Given the description of an element on the screen output the (x, y) to click on. 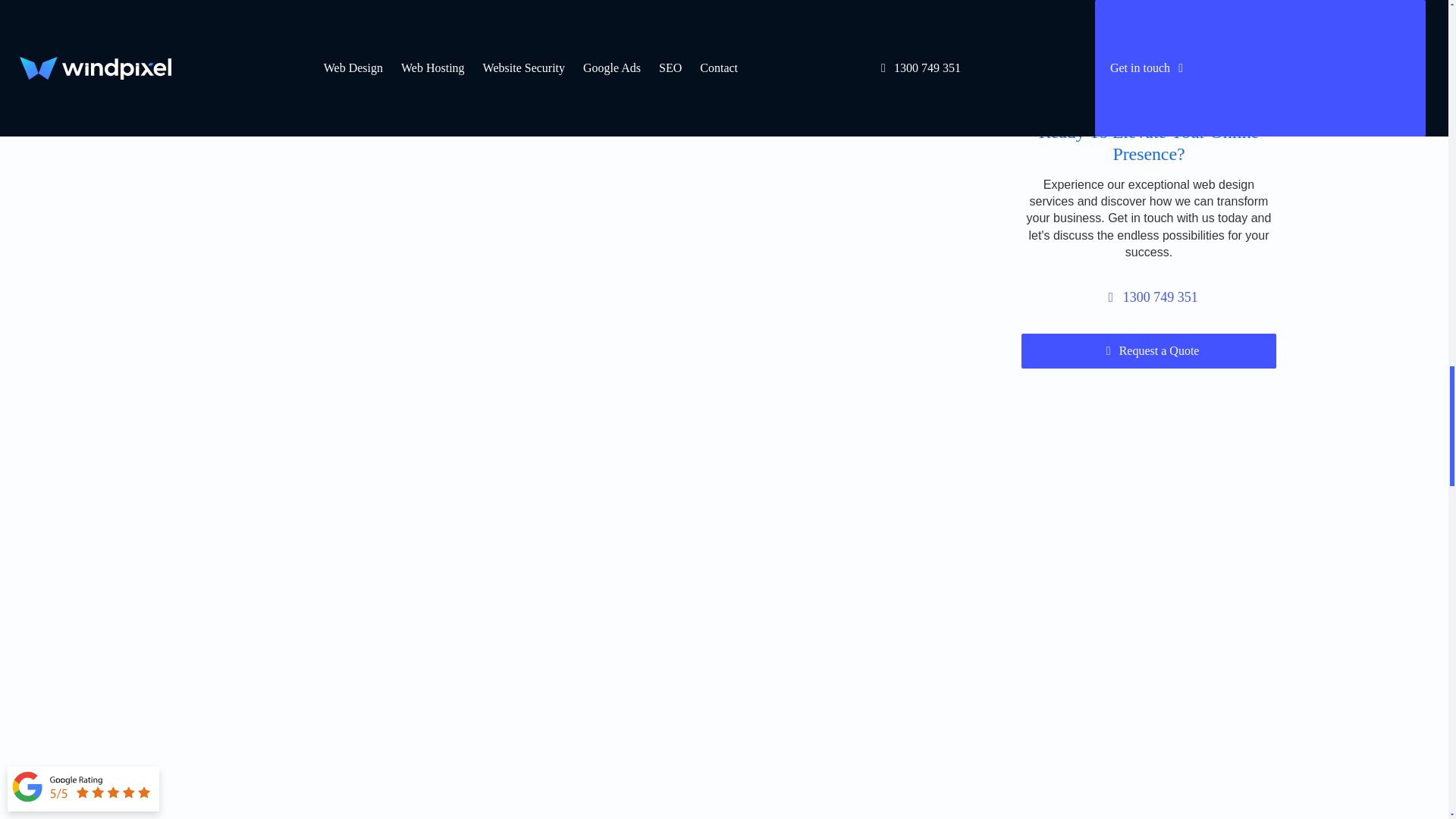
Barrett Lane (394, 124)
Scarp Realty (798, 399)
Advanced Civil Contractors (394, 399)
Simply Fencing (798, 124)
